Given the description of an element on the screen output the (x, y) to click on. 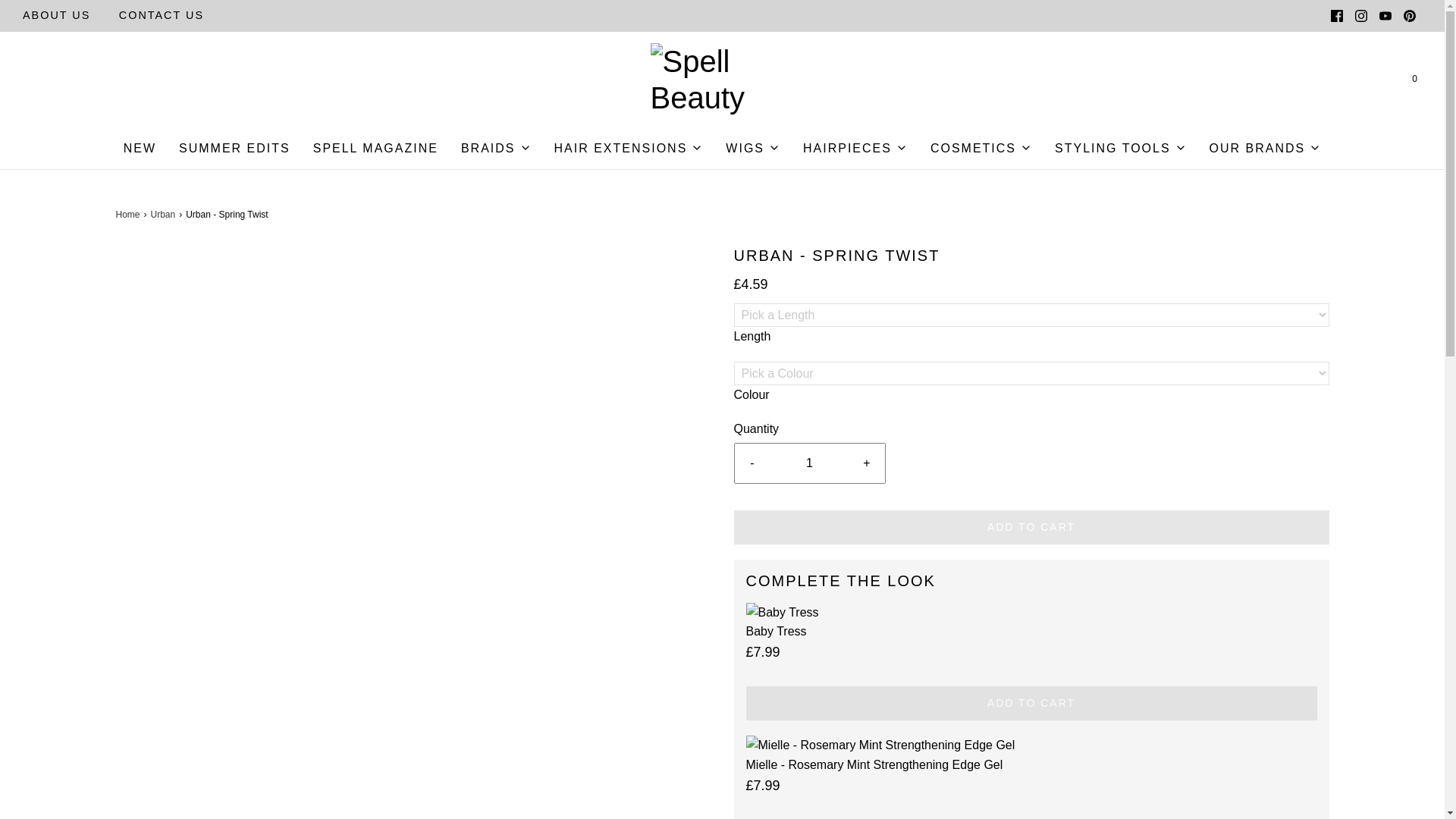
INSTAGRAM ICON (1361, 15)
1 (809, 463)
YOUTUBE ICON (1384, 15)
PINTEREST ICON (1409, 15)
ABOUT US (56, 15)
FACEBOOK ICON (1336, 15)
Cart (1413, 78)
YOUTUBE ICON (1385, 15)
Back to the frontpage (128, 214)
